Given the description of an element on the screen output the (x, y) to click on. 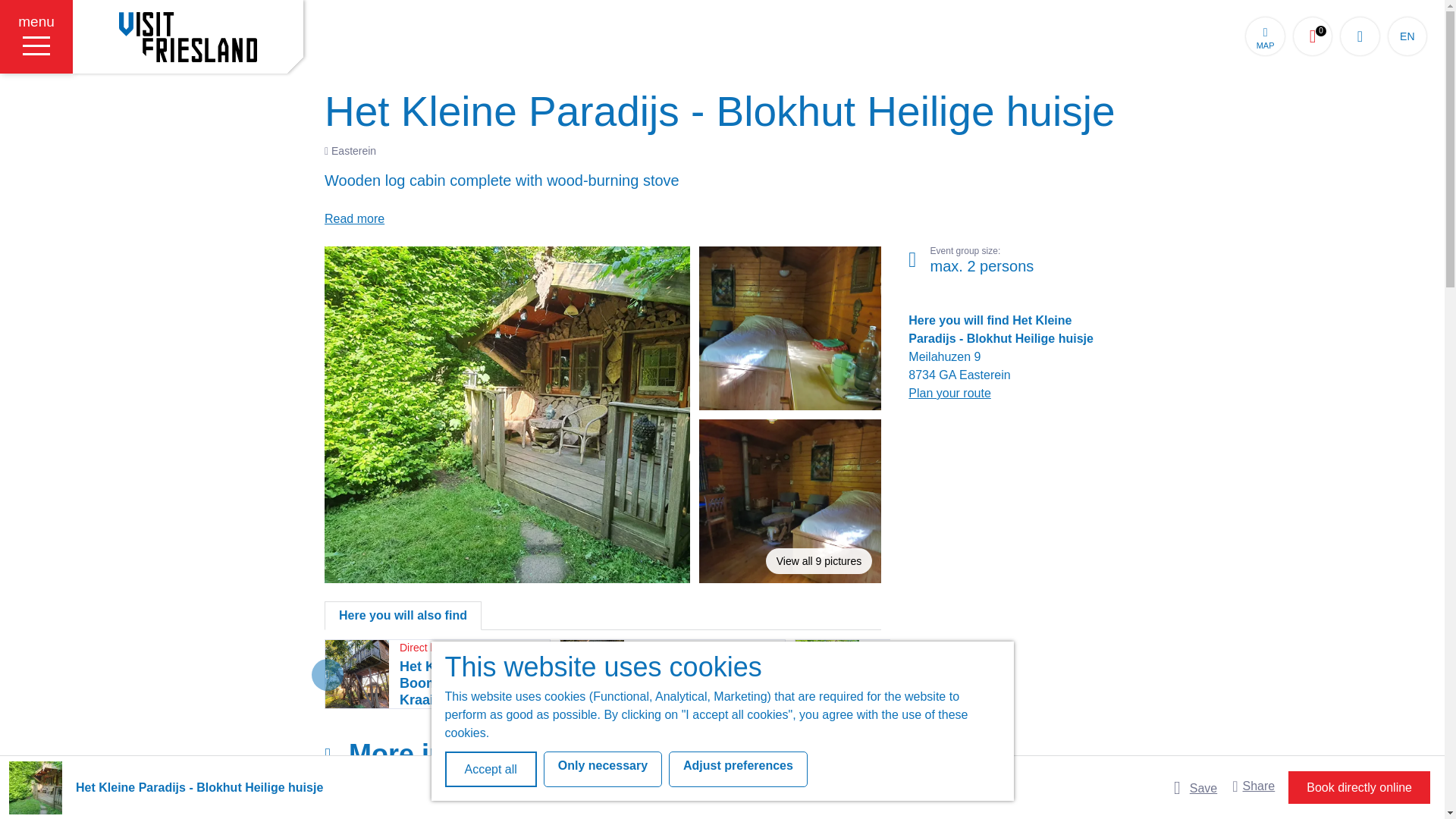
Only necessary (1313, 36)
Accept all (602, 769)
Favorites (489, 769)
Go to the homepage Friesland.nl (1313, 36)
MAP (187, 36)
Adjust preferences (1265, 36)
Map (738, 769)
menu (1265, 36)
